Given the description of an element on the screen output the (x, y) to click on. 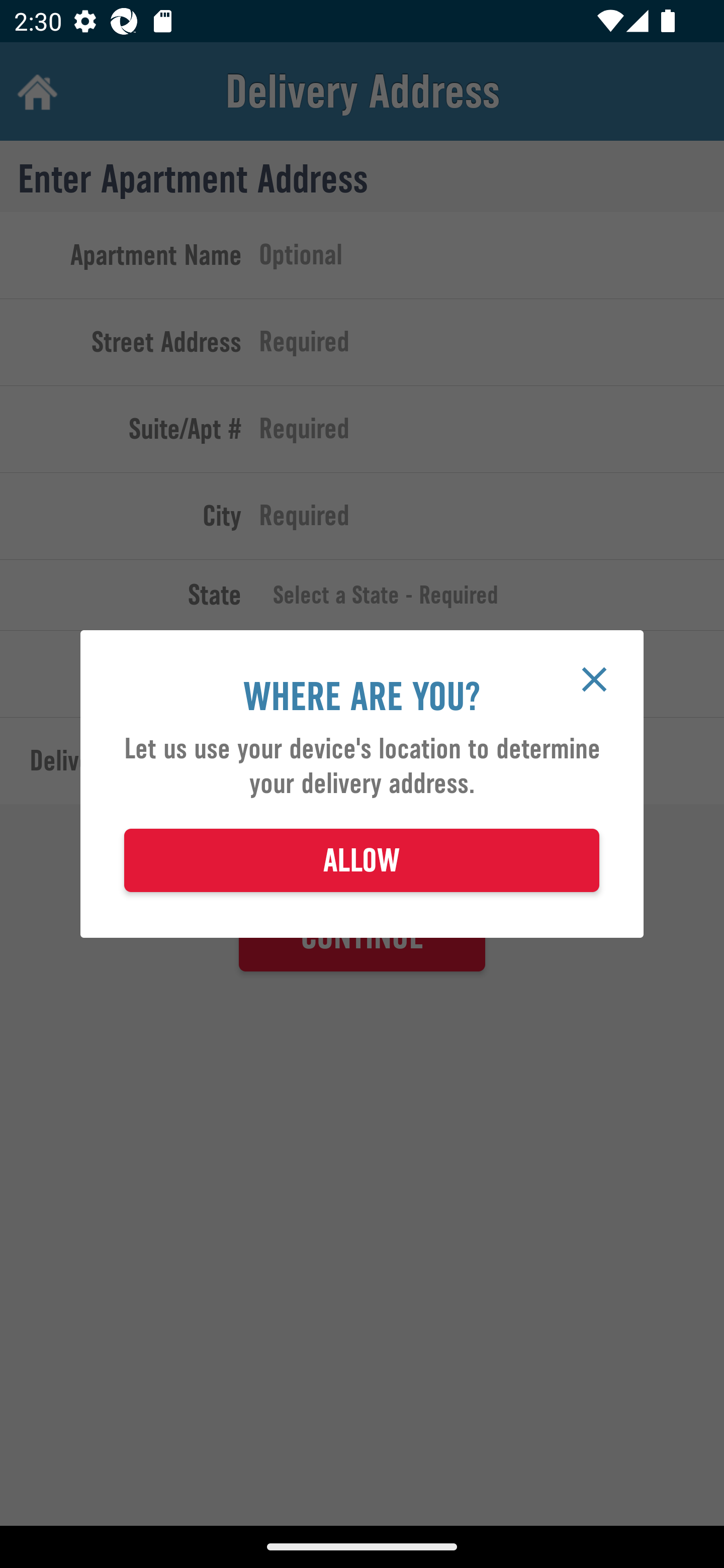
Close window (594, 679)
ALLOW (361, 860)
